Given the description of an element on the screen output the (x, y) to click on. 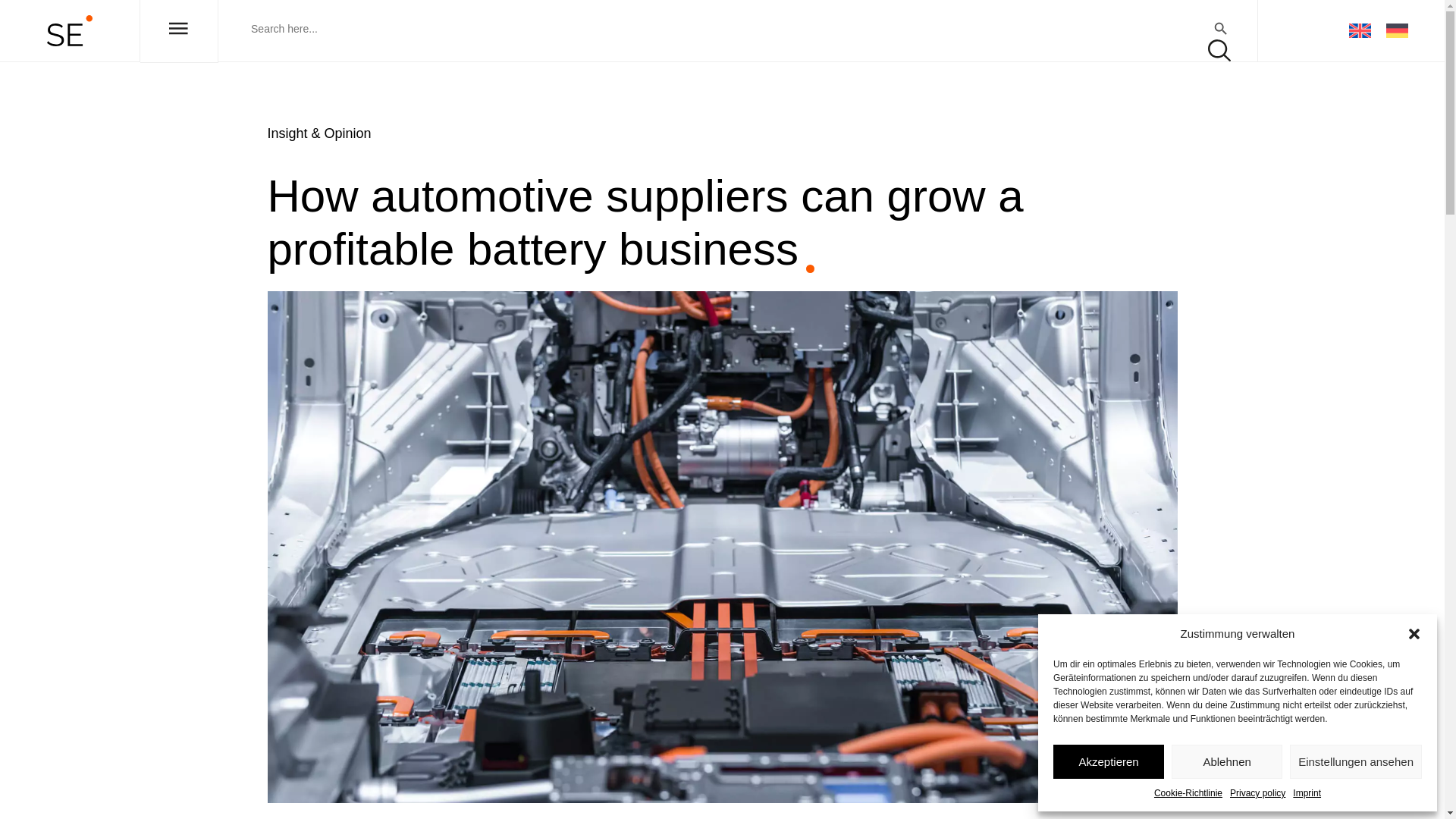
Einstellungen ansehen (1356, 761)
Ablehnen (1227, 761)
Cookie-Richtlinie (1188, 793)
Akzeptieren (1107, 761)
Search Button (1220, 28)
Privacy policy (1257, 793)
Imprint (1306, 793)
